Given the description of an element on the screen output the (x, y) to click on. 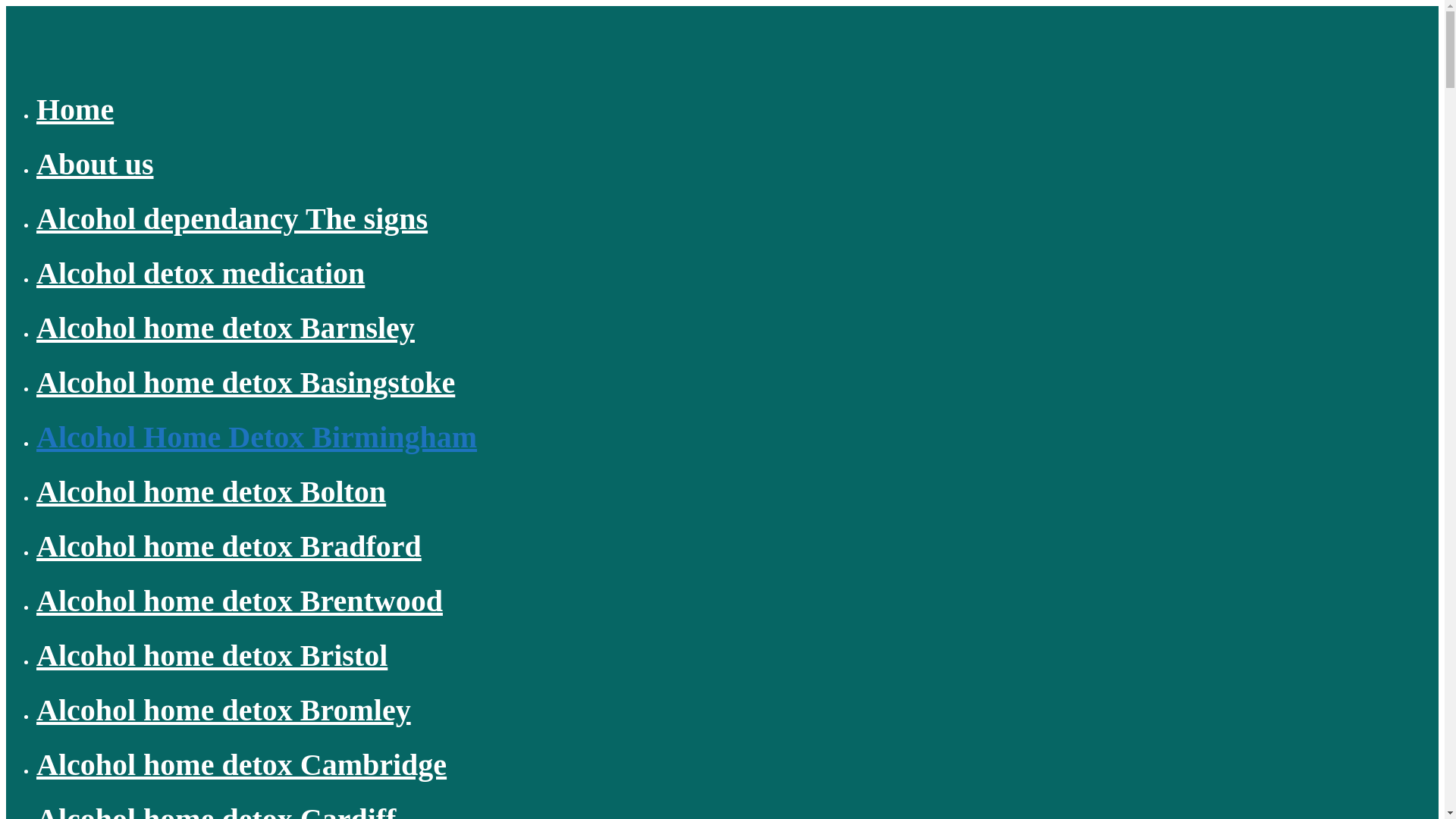
Alcohol Home Detox Birmingham (256, 437)
About us (95, 163)
Alcohol detox medication (200, 273)
Home (74, 109)
Alcohol home detox Bristol (211, 655)
Alcohol home detox Bradford (229, 546)
Alcohol home detox Barnsley (225, 327)
Alcohol home detox Brentwood (239, 600)
Alcohol home detox Basingstoke (245, 382)
Alcohol home detox Bromley (223, 709)
Alcohol home detox Cardiff (216, 810)
Alcohol home detox Cambridge (241, 764)
Alcohol dependancy The signs (232, 218)
